Given the description of an element on the screen output the (x, y) to click on. 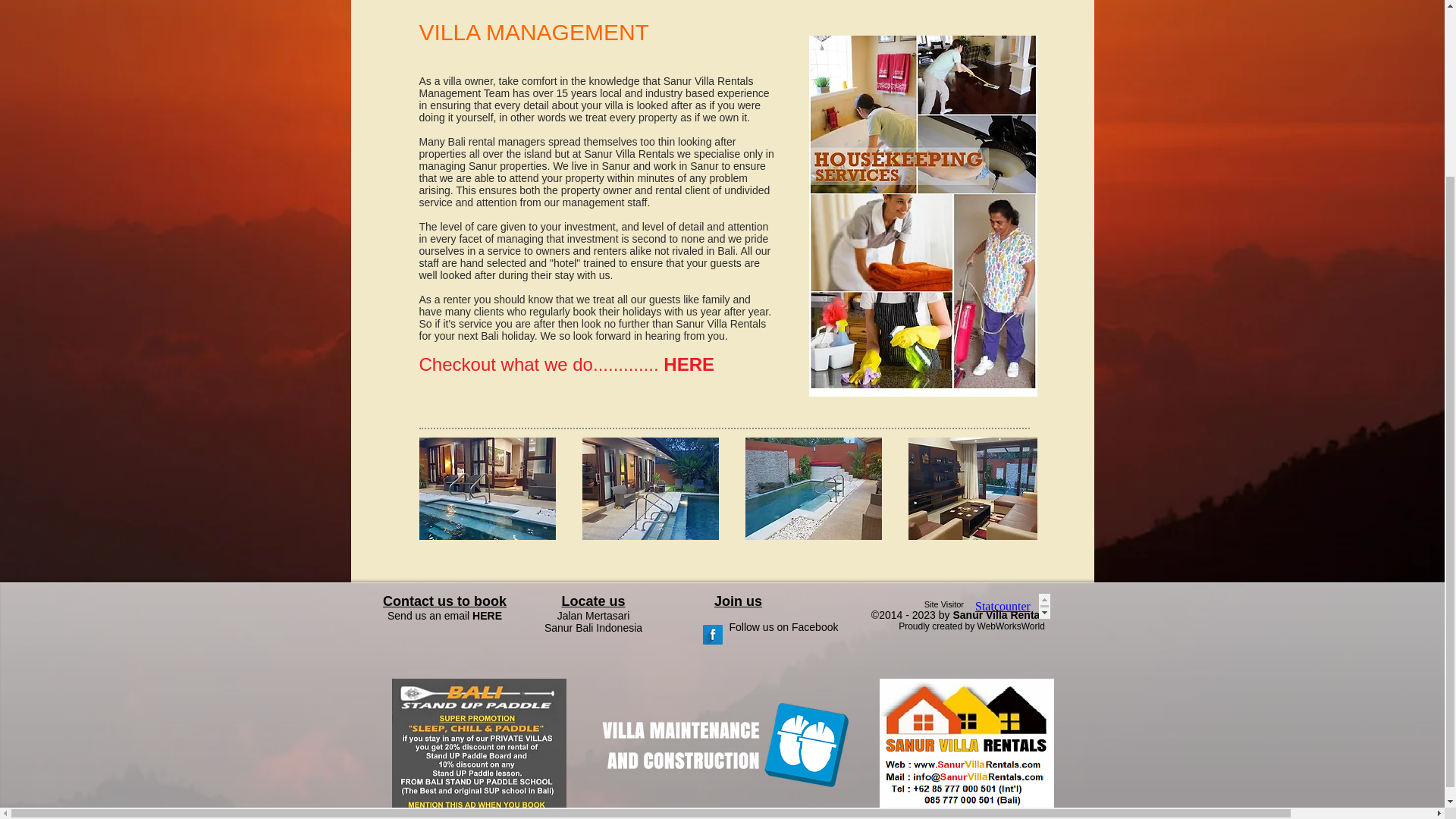
WebWorksWorld (1010, 625)
Bali Stand Up Paddle Board (478, 744)
LOGO-VILLA1.png (721, 744)
Embedded Content (1009, 606)
Send us an email HERE (444, 615)
Checkout what we do............. HERE (566, 363)
